Given the description of an element on the screen output the (x, y) to click on. 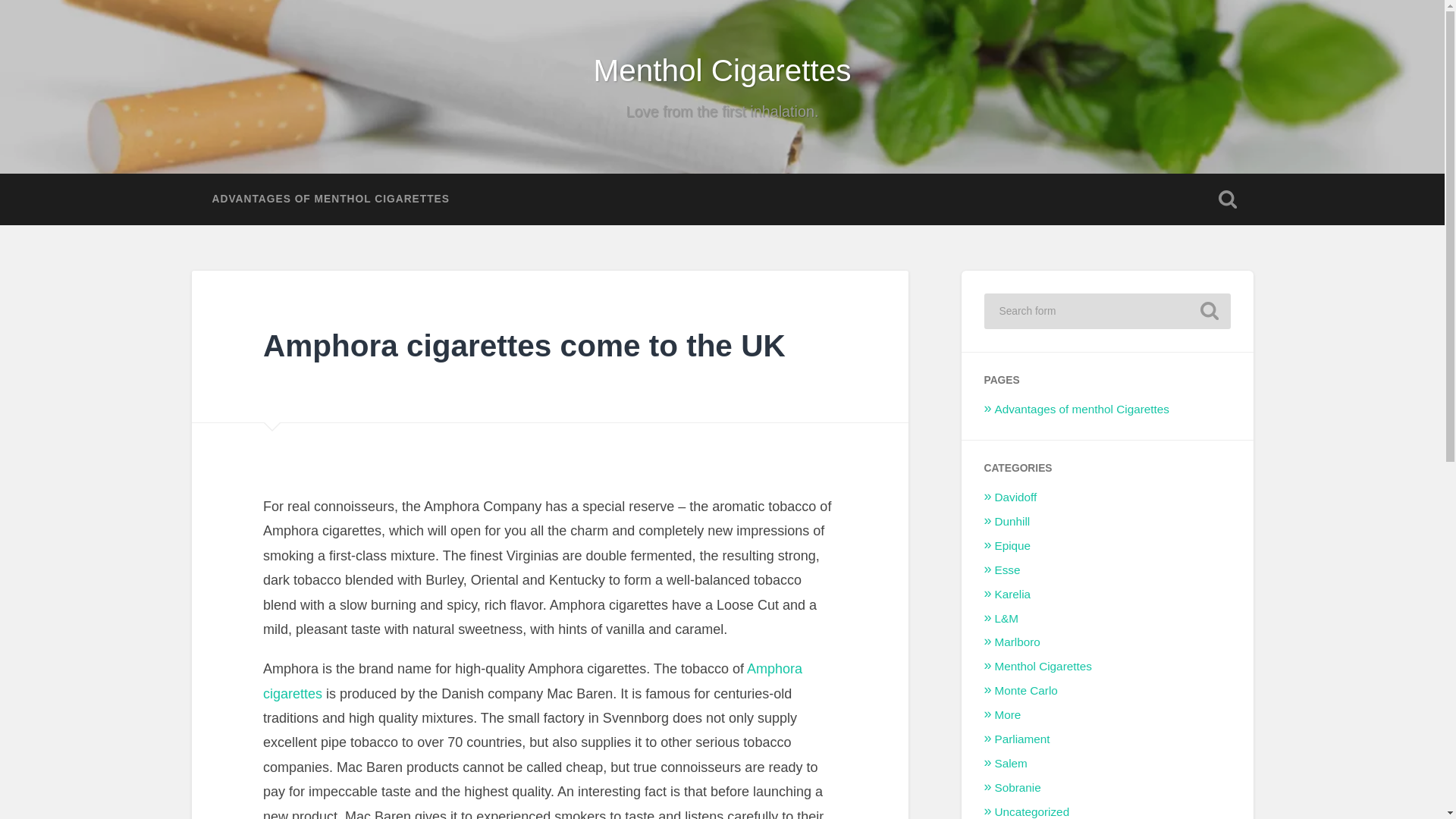
Salem (1010, 762)
Amphora cigarettes come to the UK (524, 345)
Epique (1012, 545)
Search (1209, 310)
Menthol Cigarettes (722, 70)
ADVANTAGES OF MENTHOL CIGARETTES (329, 199)
Amphora cigarettes (532, 680)
Menthol Cigarettes (1043, 666)
Karelia (1012, 594)
Sobranie (1017, 787)
Search (1209, 310)
Uncategorized (1032, 811)
Advantages of menthol Cigarettes (1081, 408)
Monte Carlo (1026, 689)
Search (1209, 310)
